Given the description of an element on the screen output the (x, y) to click on. 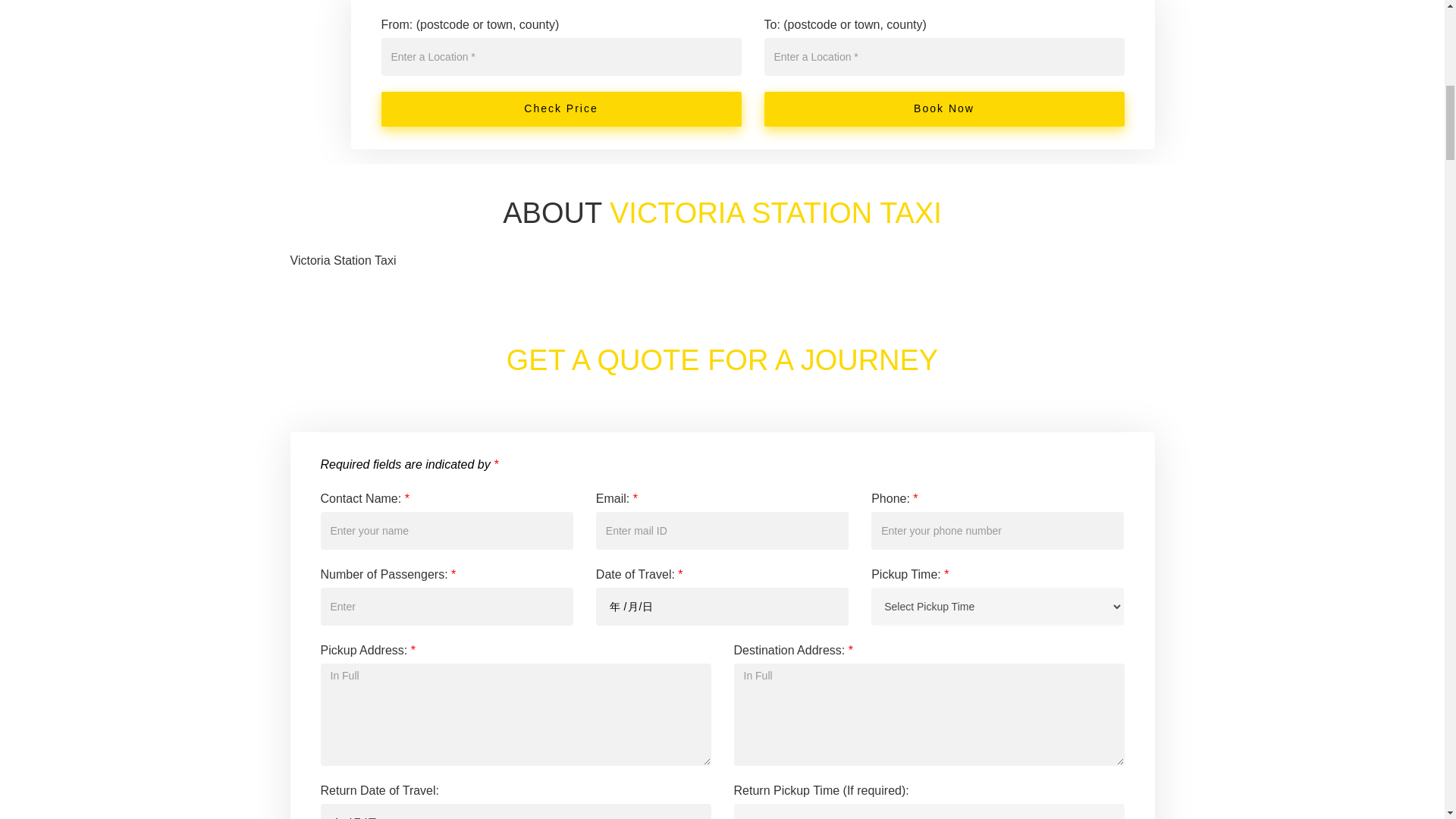
Book Now (944, 108)
Check Price (560, 108)
